Given the description of an element on the screen output the (x, y) to click on. 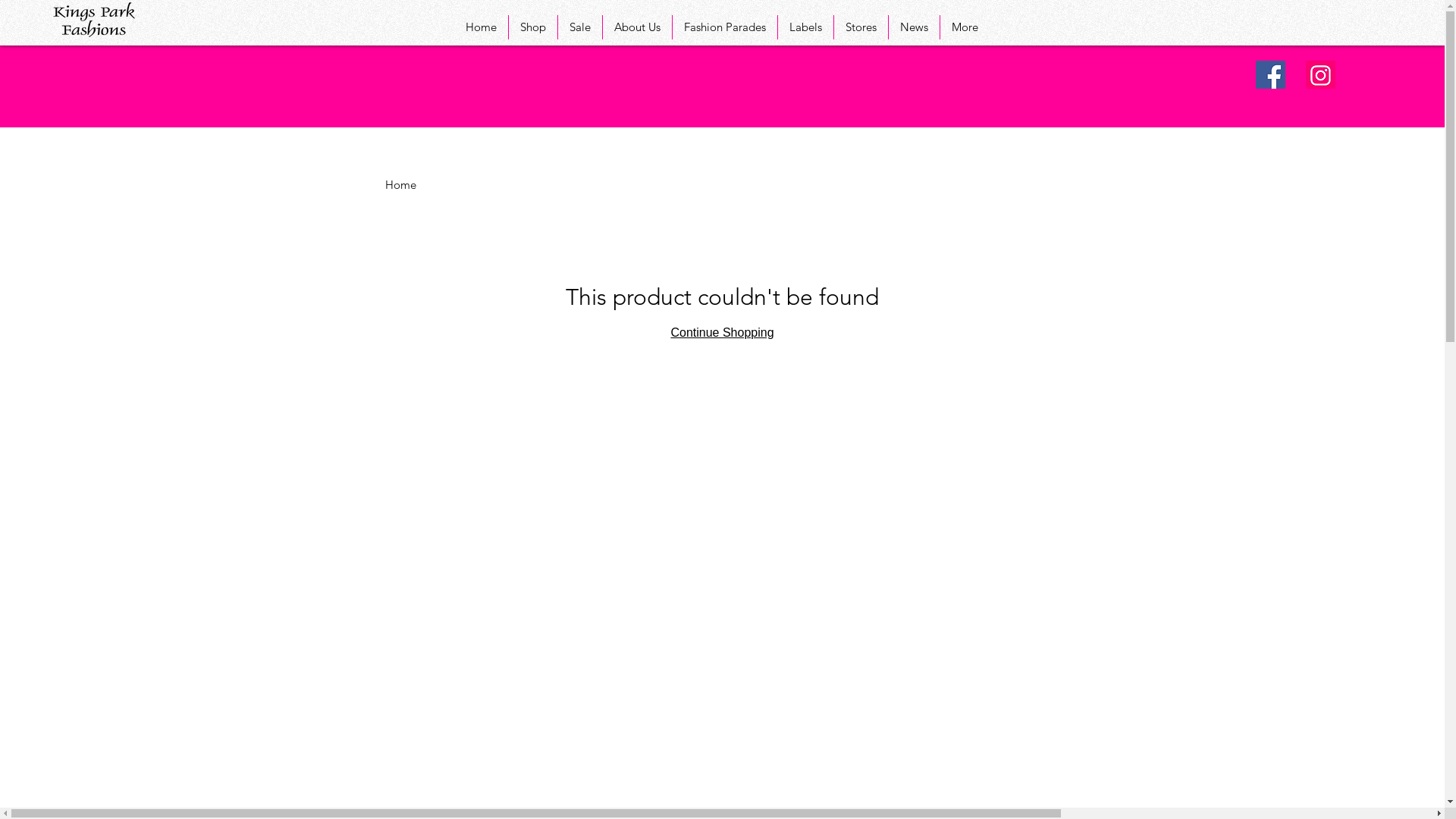
About Us Element type: text (636, 27)
Labels Element type: text (805, 27)
Home Element type: text (481, 27)
Stores Element type: text (861, 27)
Sale Element type: text (580, 27)
News Element type: text (913, 27)
Fashion Parades Element type: text (724, 27)
Home Element type: text (400, 184)
Continue Shopping Element type: text (721, 332)
Shop Element type: text (532, 27)
